Given the description of an element on the screen output the (x, y) to click on. 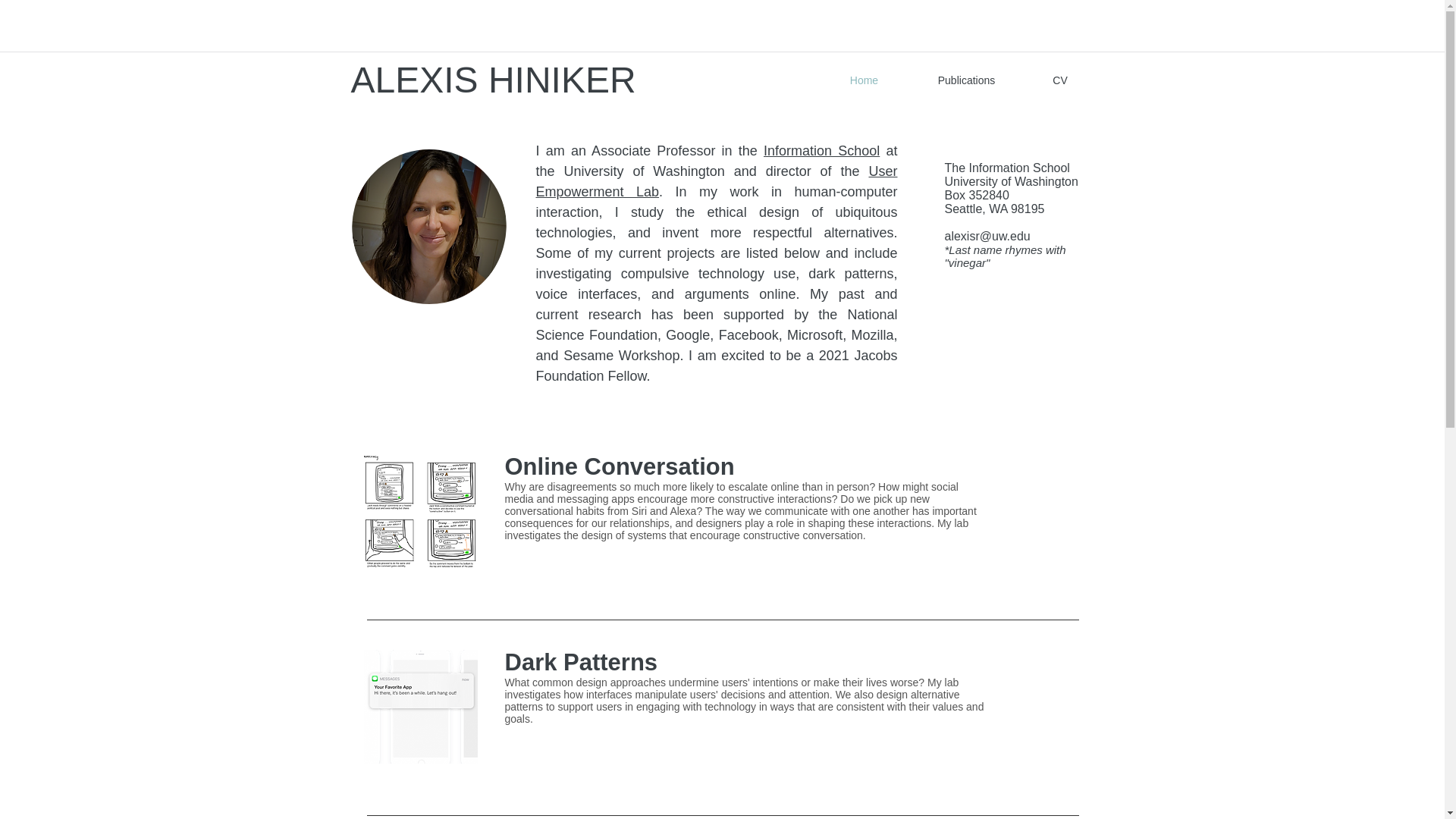
Information School (820, 150)
Home (864, 80)
CV (1059, 80)
Publications (966, 80)
storyboardExample.png (420, 511)
User Empowerment Lab (715, 181)
